Given the description of an element on the screen output the (x, y) to click on. 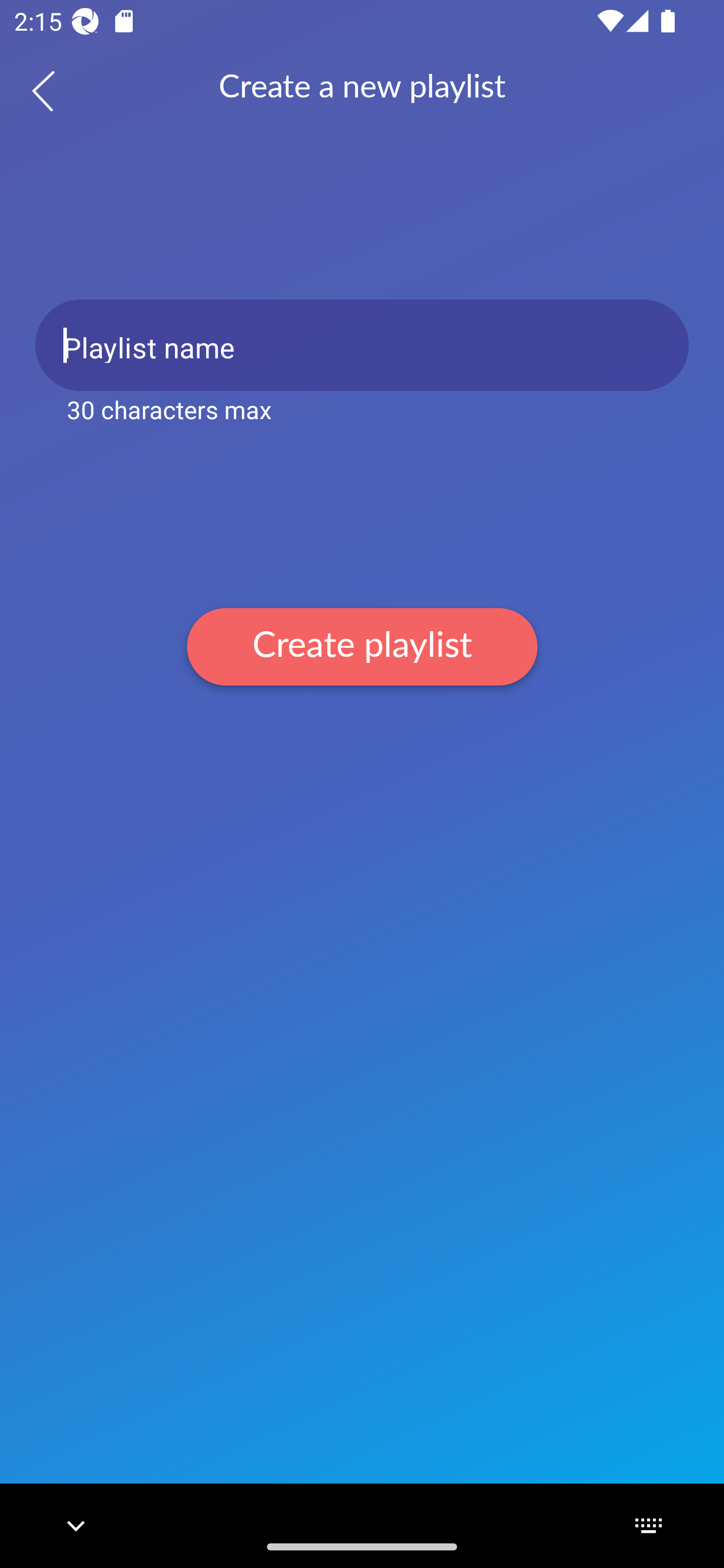
Playlist name (361, 344)
Create playlist (362, 646)
